Given the description of an element on the screen output the (x, y) to click on. 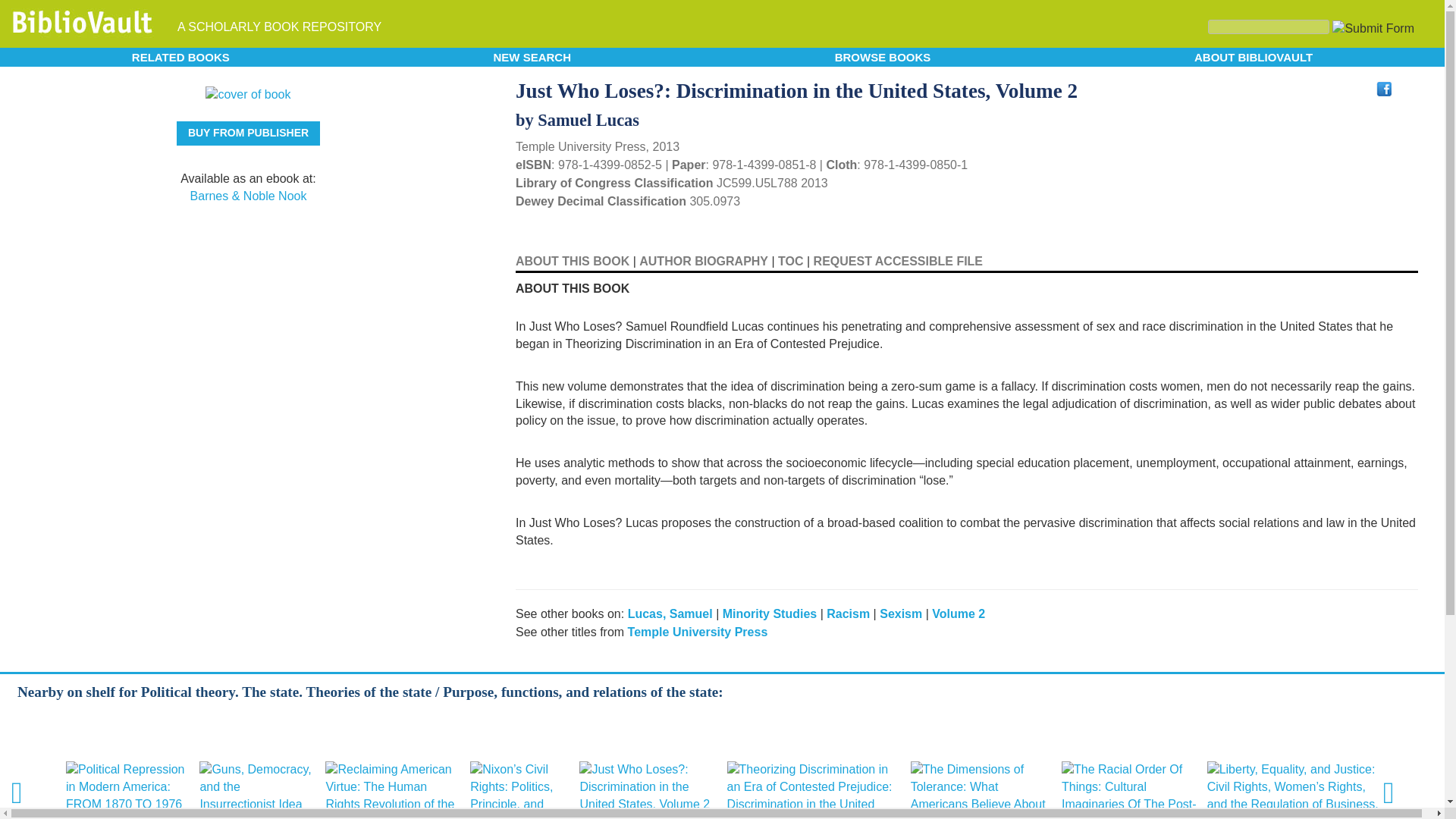
BROWSE BOOKS (882, 56)
Send as an email (1404, 87)
Search (1268, 26)
ABOUT BIBLIOVAULT (1253, 56)
Share on Twitter (1358, 86)
BUY FROM PUBLISHER (248, 133)
Share on Facebook (1384, 90)
RELATED BOOKS (180, 56)
Guns, Democracy, and the Insurrectionist Idea (257, 787)
Political Repression in Modern America: FROM 1870 TO 1976 (128, 787)
NEW SEARCH (532, 56)
